Given the description of an element on the screen output the (x, y) to click on. 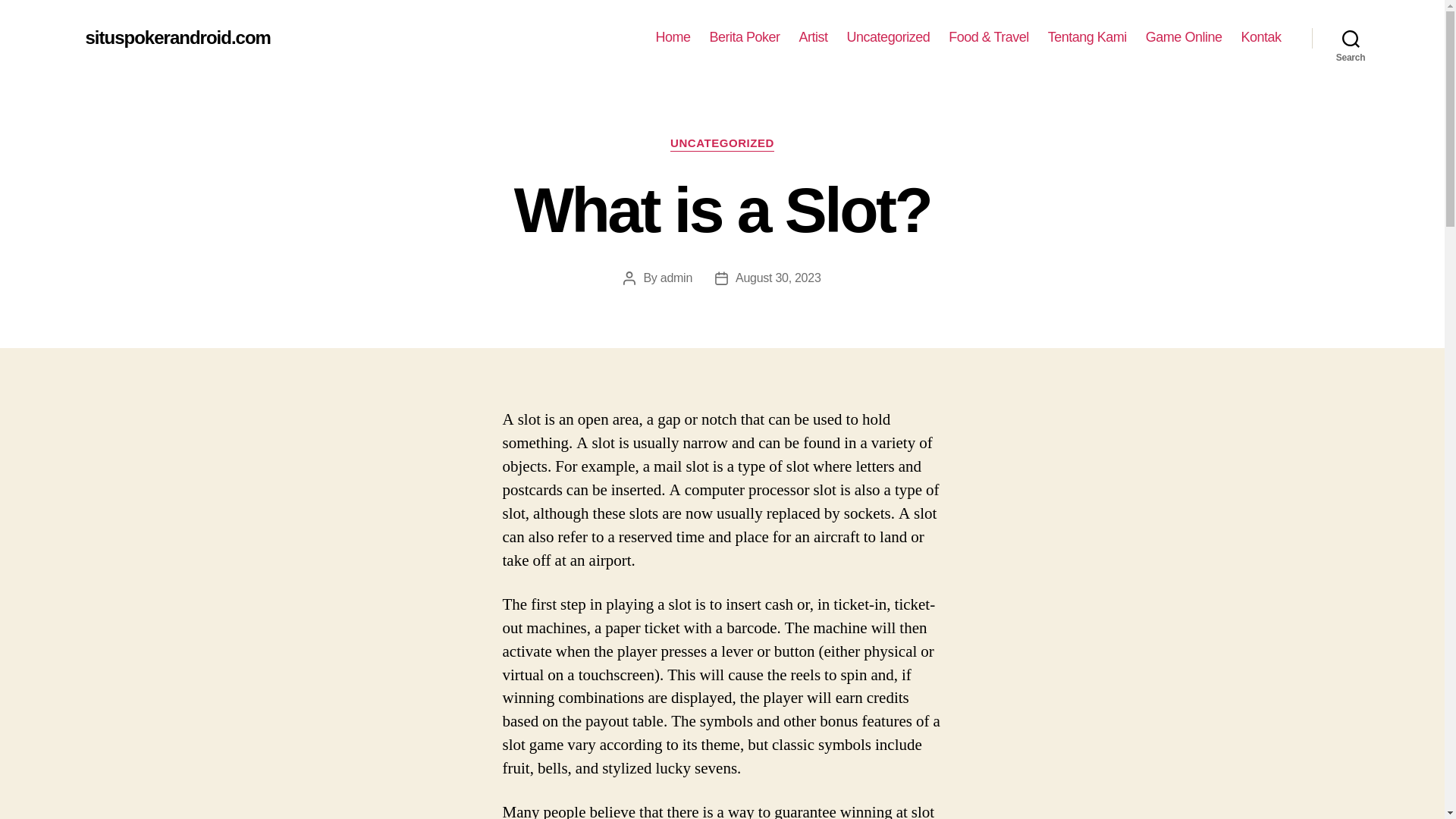
Tentang Kami (1087, 37)
Search (1350, 37)
situspokerandroid.com (176, 37)
Kontak (1260, 37)
August 30, 2023 (778, 277)
UNCATEGORIZED (721, 143)
Artist (813, 37)
Berita Poker (745, 37)
Game Online (1184, 37)
Home (672, 37)
